Given the description of an element on the screen output the (x, y) to click on. 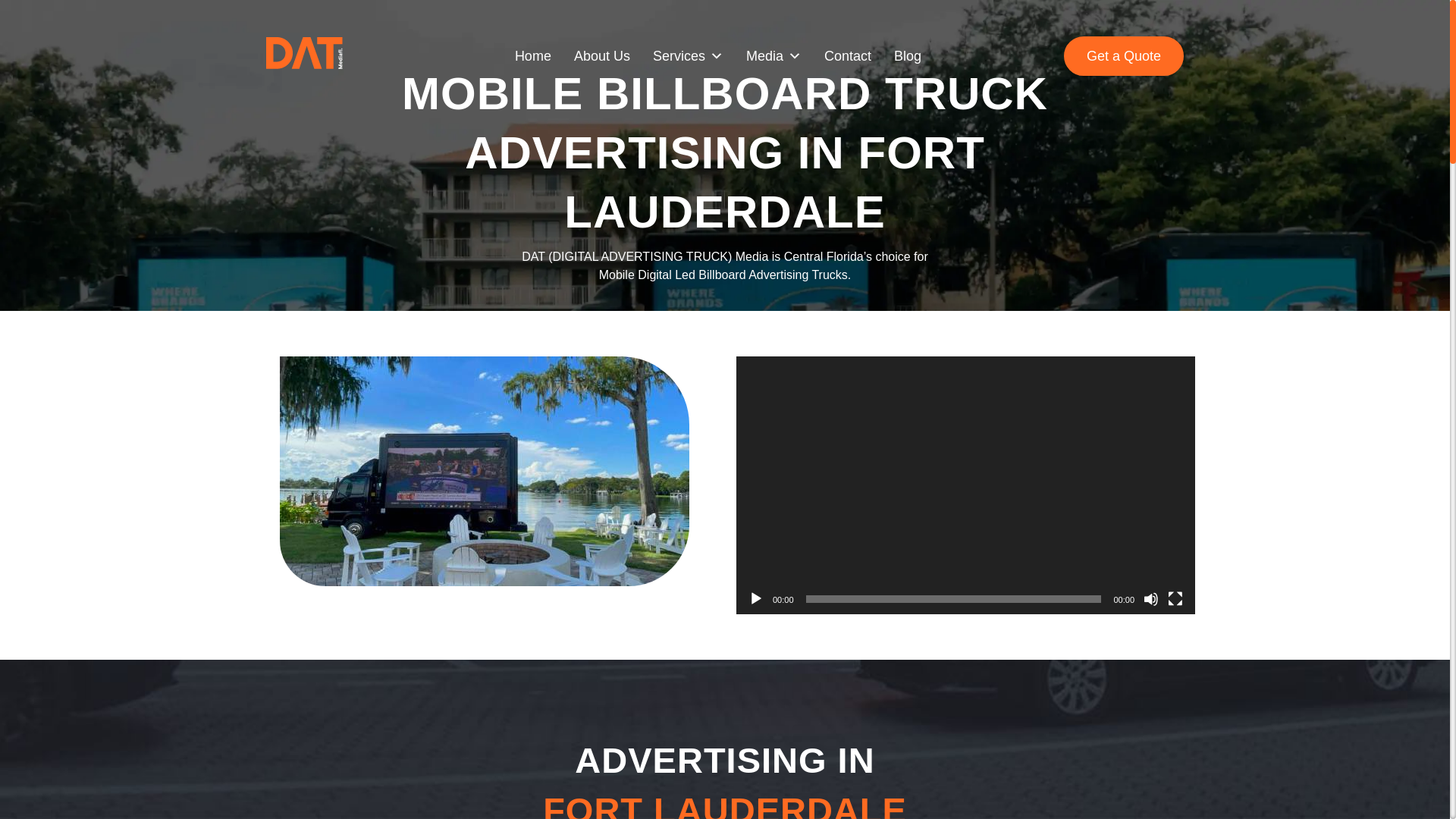
Dat (483, 471)
Get a Quote (1123, 56)
Fullscreen (1174, 598)
Play (755, 598)
Blog (907, 55)
Mute (1150, 598)
Services (687, 55)
Contact (847, 55)
About Us (601, 55)
Home (533, 55)
